Given the description of an element on the screen output the (x, y) to click on. 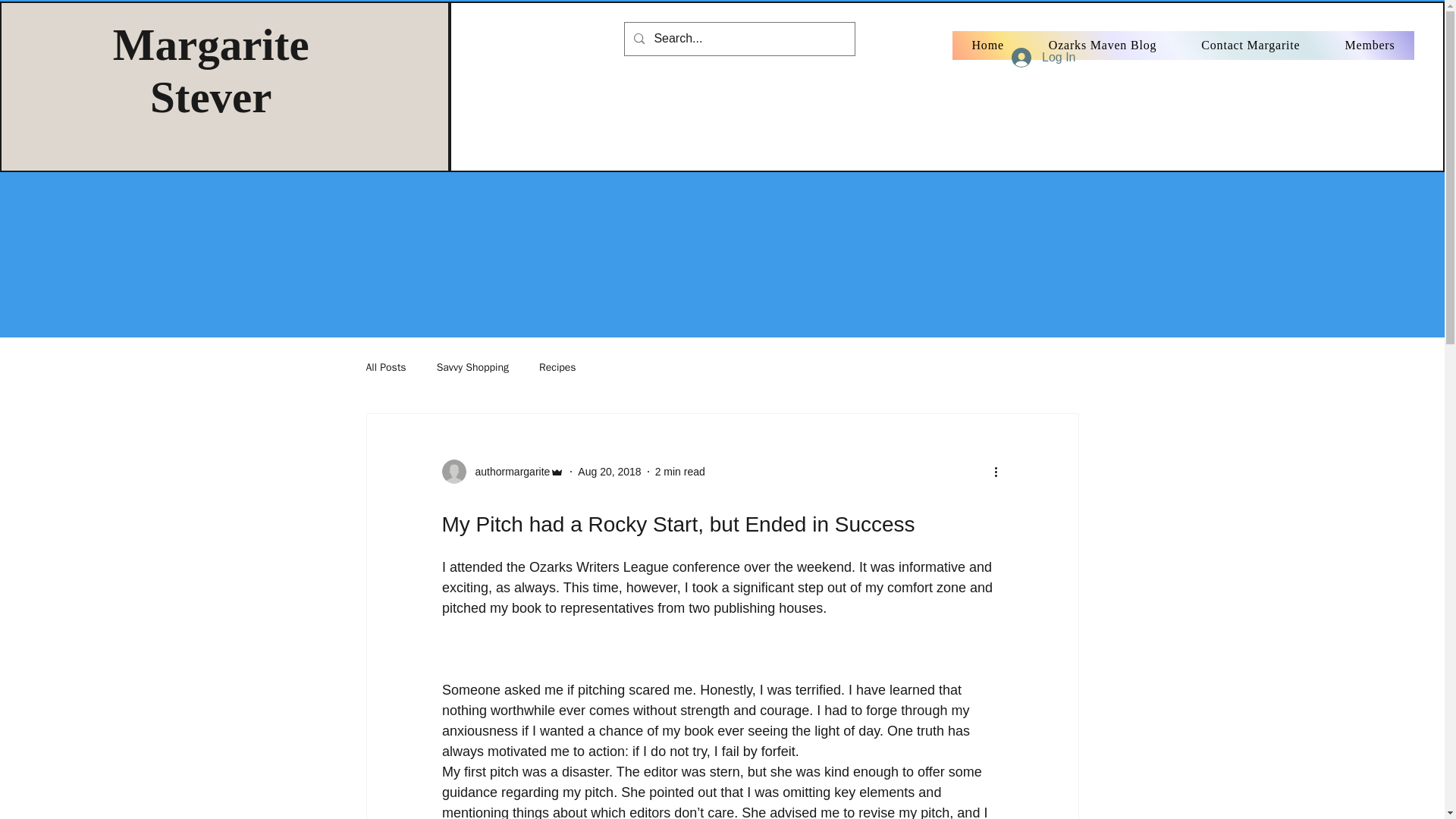
Aug 20, 2018 (609, 471)
All Posts (385, 367)
Contact Margarite (1250, 45)
2 min read (679, 471)
Savvy Shopping (472, 367)
Home (987, 45)
authormargarite (502, 471)
Members (1368, 45)
Margarite Stever (210, 70)
authormargarite (507, 471)
